Given the description of an element on the screen output the (x, y) to click on. 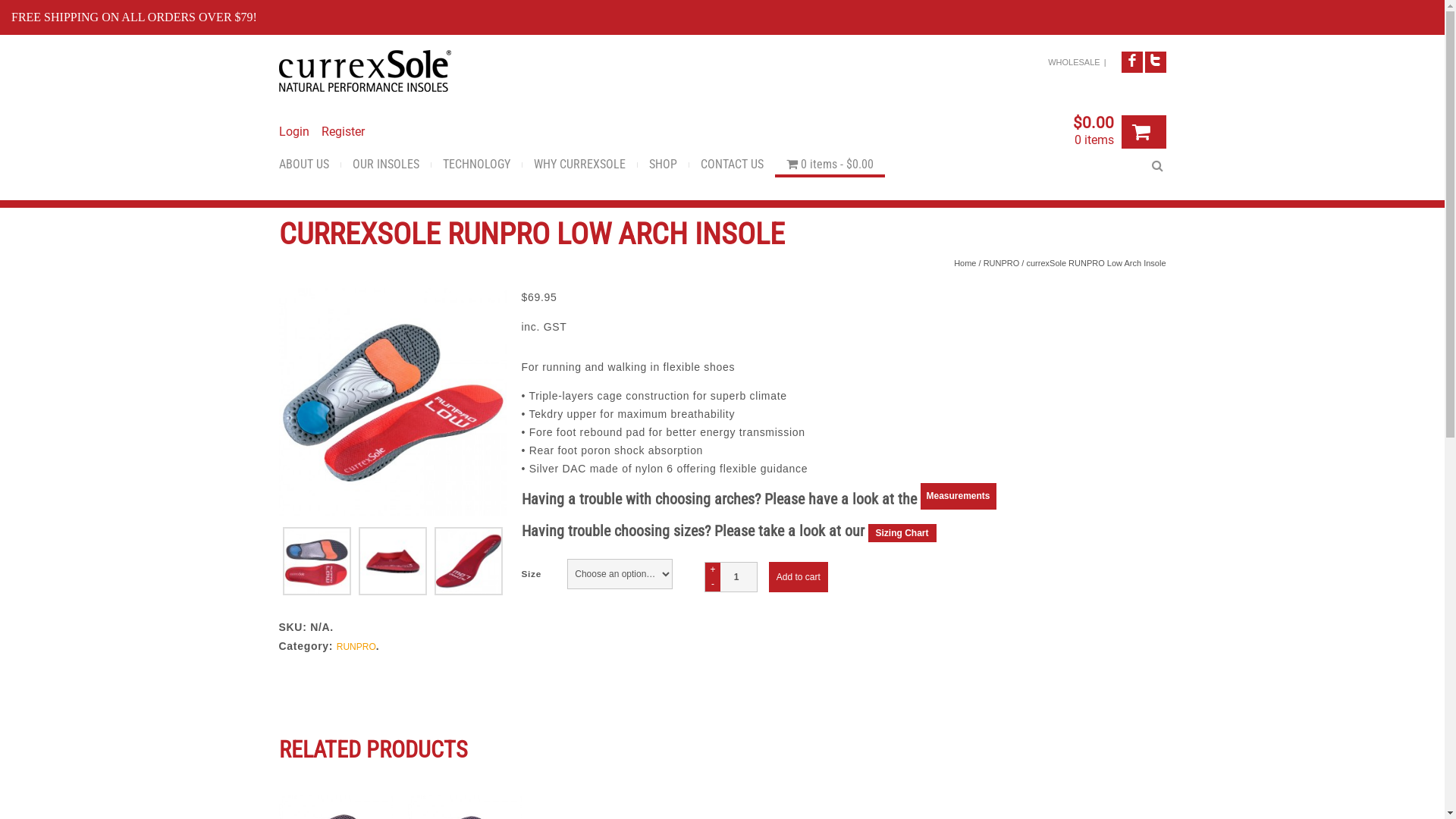
SHOP Element type: text (662, 165)
  Element type: text (1142, 131)
TECHNOLOGY Element type: text (475, 165)
CurrexSole Element type: hover (365, 70)
Sizing Chart Element type: text (901, 533)
RUNPRO Element type: text (356, 646)
Add to cart Element type: text (798, 576)
CONTACT US Element type: text (731, 165)
$0.00
0 items Element type: text (1092, 134)
WHY CURREXSOLE Element type: text (578, 165)
Qty Element type: hover (730, 576)
RUNPRO Element type: text (1001, 262)
Register Element type: text (342, 131)
Login Element type: text (294, 131)
ABOUT US Element type: text (309, 165)
OUR INSOLES Element type: text (385, 165)
Home Element type: text (964, 262)
Measurements Element type: text (958, 500)
WHOLESALE Element type: text (1073, 61)
0 items$0.00 Element type: text (829, 165)
